Given the description of an element on the screen output the (x, y) to click on. 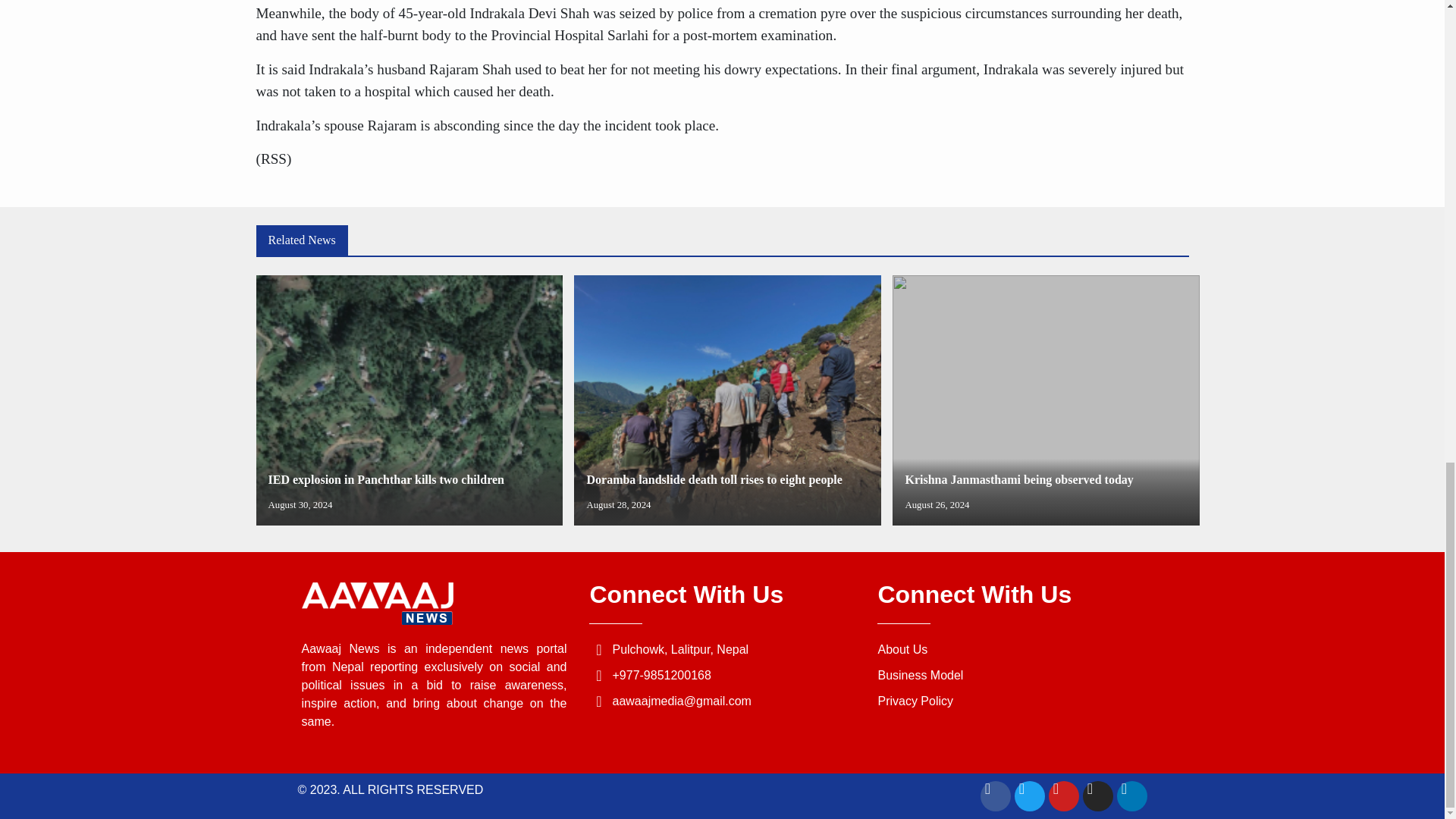
Business Model (1045, 400)
About Us (1009, 675)
Privacy Policy (1009, 649)
